Given the description of an element on the screen output the (x, y) to click on. 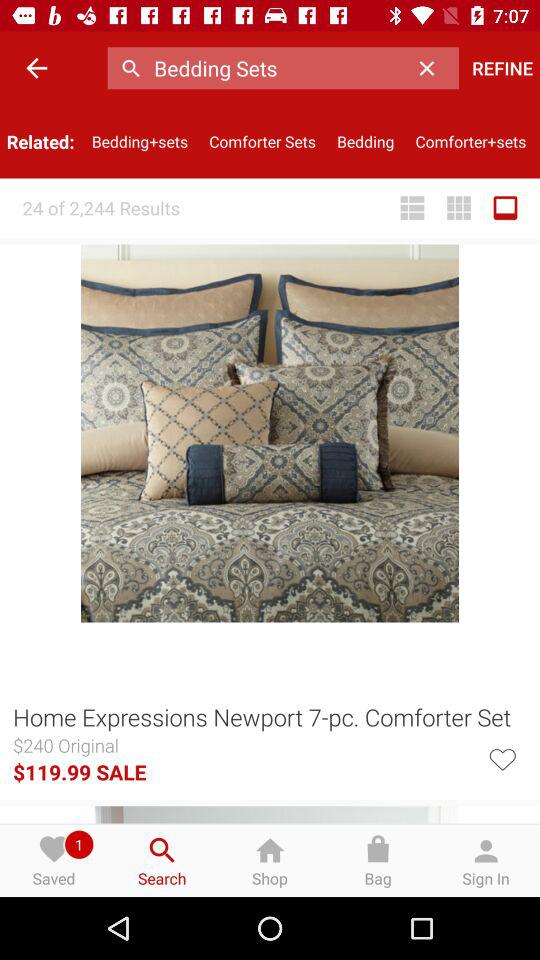
open the item to the right of the $119.99 sale icon (501, 757)
